Given the description of an element on the screen output the (x, y) to click on. 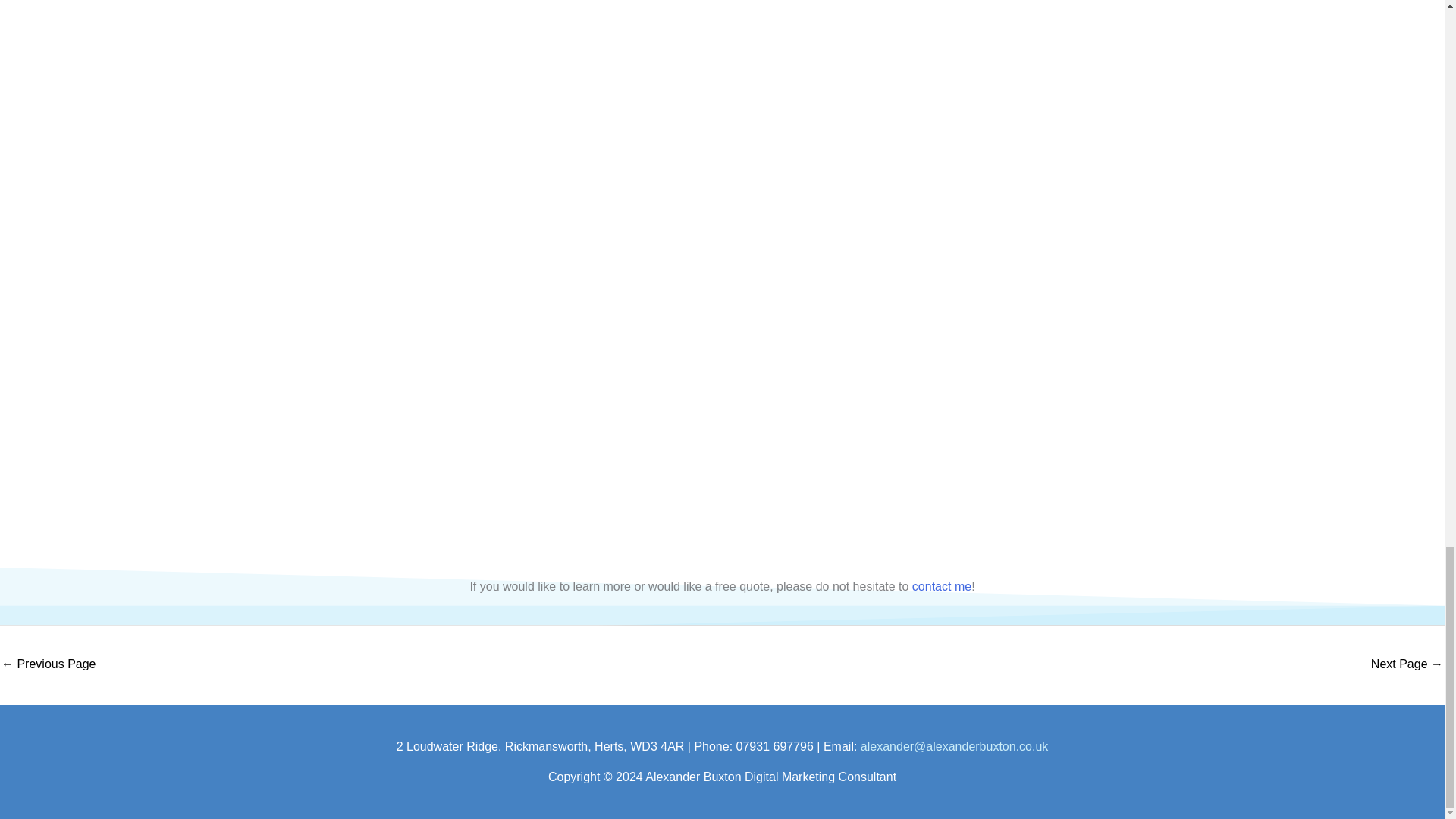
E-Commerce (1406, 665)
Client Feedback (48, 665)
